Given the description of an element on the screen output the (x, y) to click on. 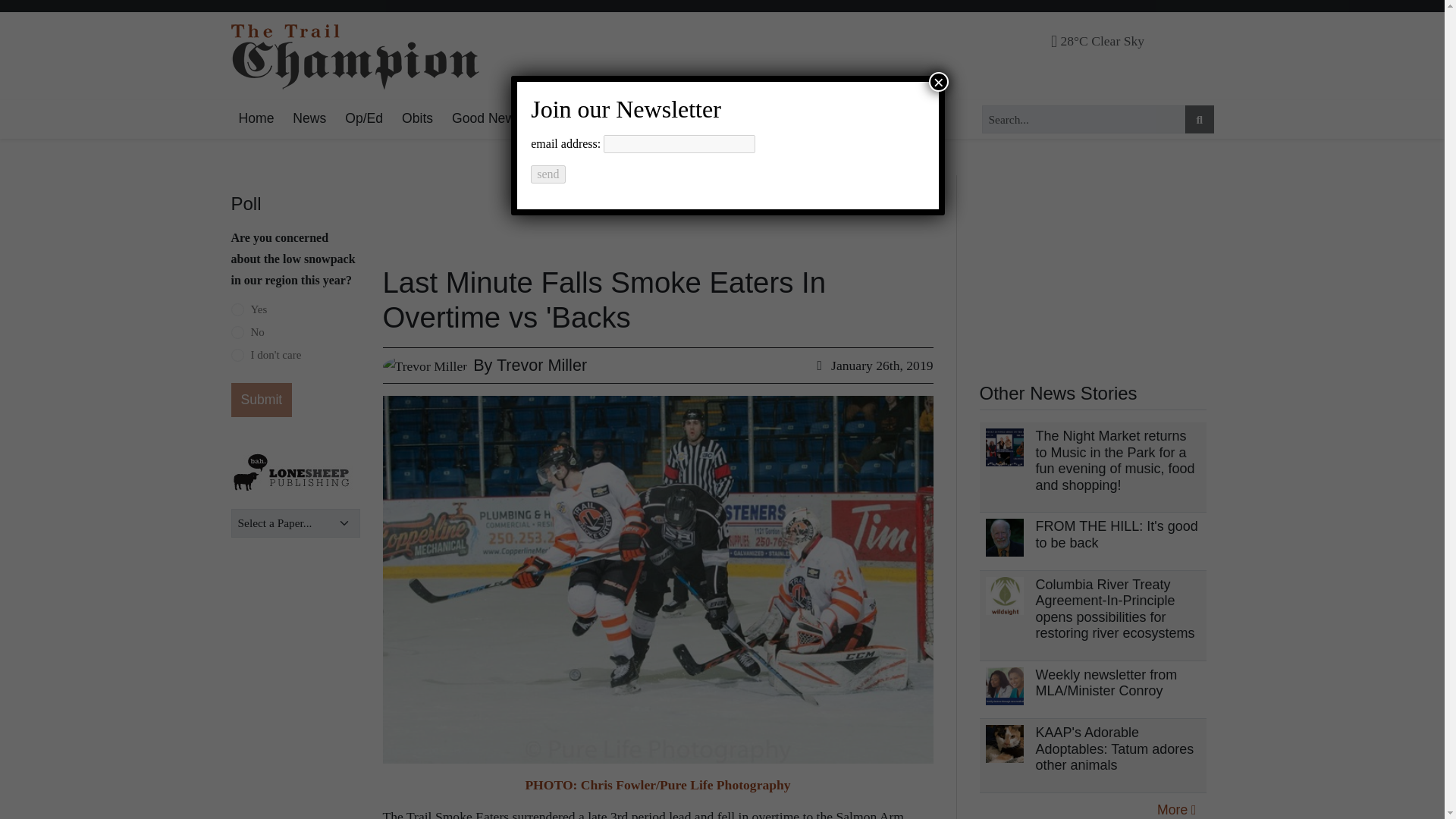
gpoll1892df81e (237, 309)
3rd party ad content (1093, 269)
3rd party ad content (637, 211)
Home (255, 118)
gpoll14070505e (237, 355)
send (547, 174)
More (1176, 806)
KAAP's Adorable Adoptables: Tatum adores other animals (1114, 748)
FROM THE HILL: It's good to be back (1116, 534)
Events (608, 118)
Submit (261, 400)
News (309, 118)
gpoll135bfdf59 (237, 332)
